Given the description of an element on the screen output the (x, y) to click on. 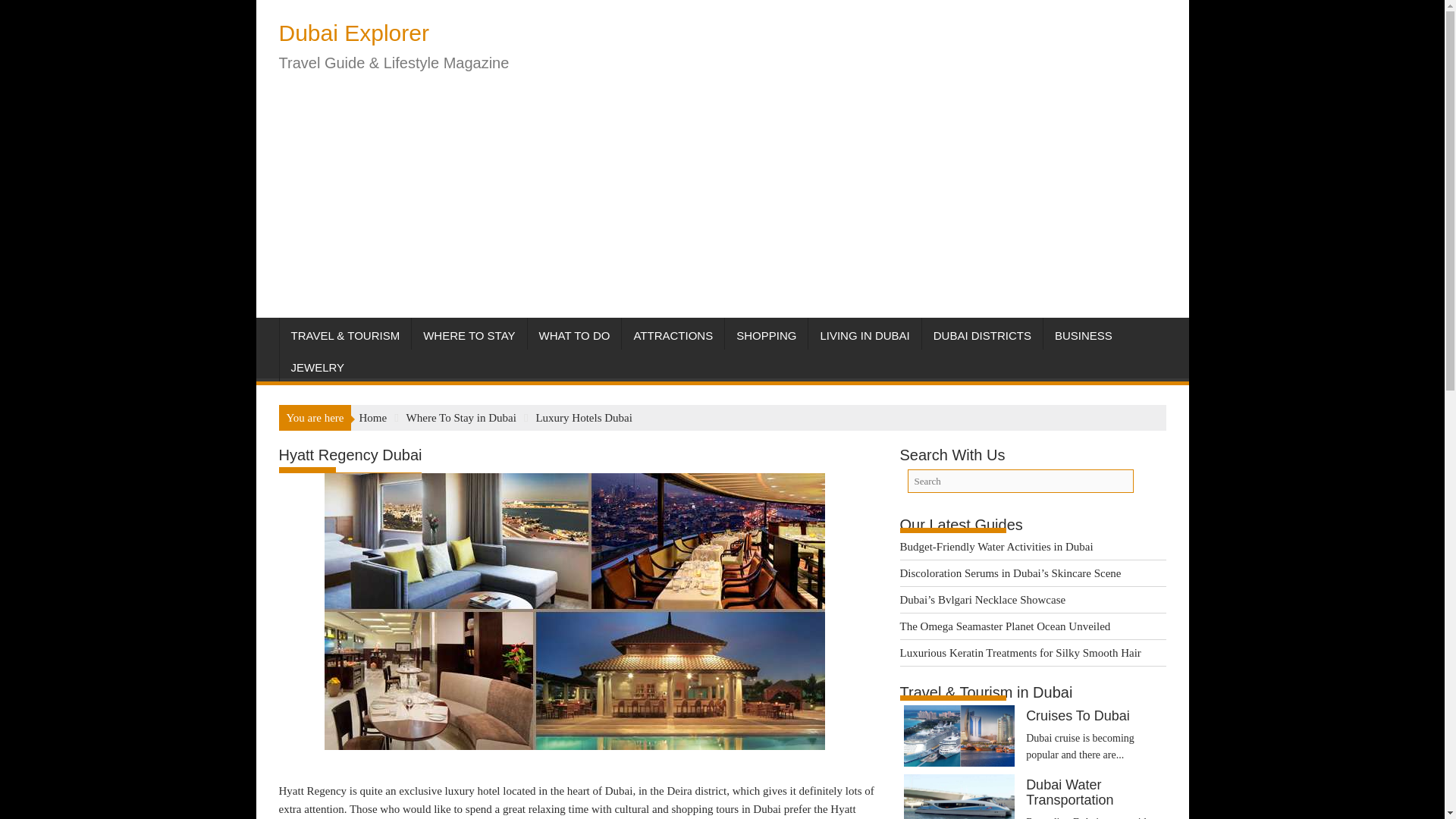
Dubai Explorer (354, 32)
The Omega Seamaster Planet Ocean Unveiled (1004, 625)
Luxurious Keratin Treatments for Silky Smooth Hair (1019, 652)
DUBAI DISTRICTS (981, 335)
WHERE TO STAY (468, 335)
Home (372, 417)
SHOPPING (766, 335)
LIVING IN DUBAI (864, 335)
Budget-Friendly Water Activities in Dubai (996, 545)
ATTRACTIONS (672, 335)
